Given the description of an element on the screen output the (x, y) to click on. 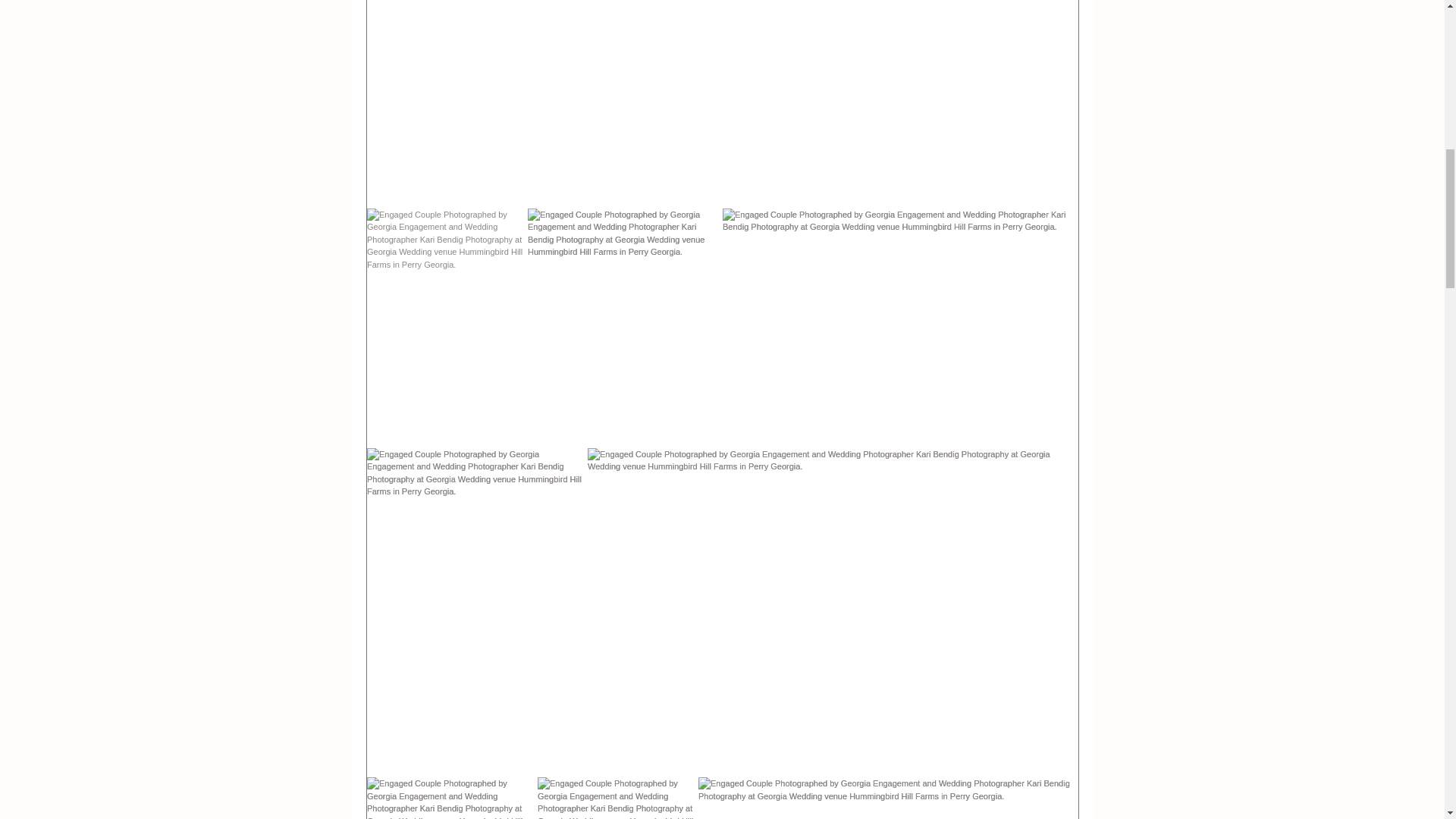
Pin to Pinterest (473, 304)
